Given the description of an element on the screen output the (x, y) to click on. 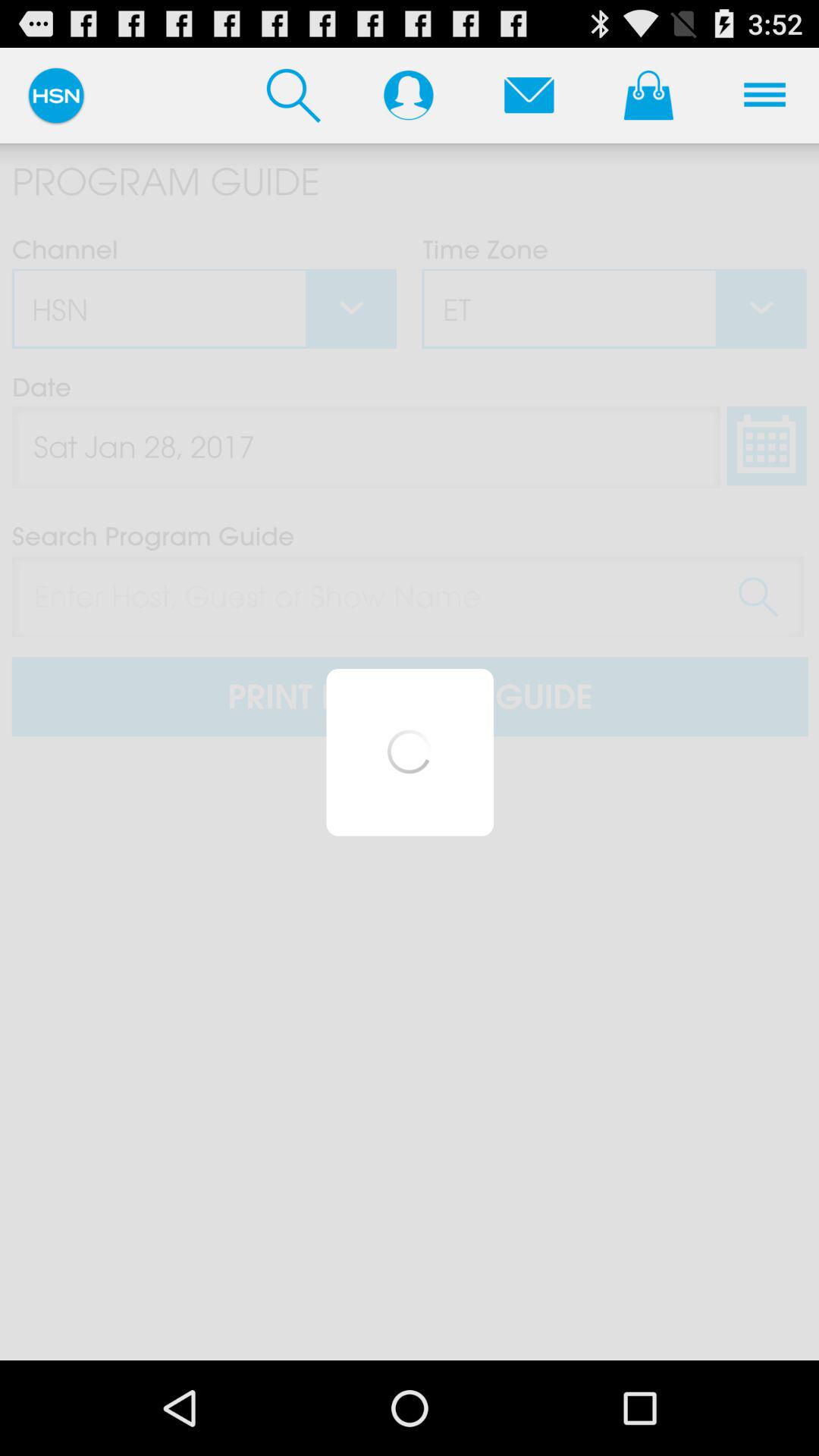
go to shopping page (648, 95)
